Given the description of an element on the screen output the (x, y) to click on. 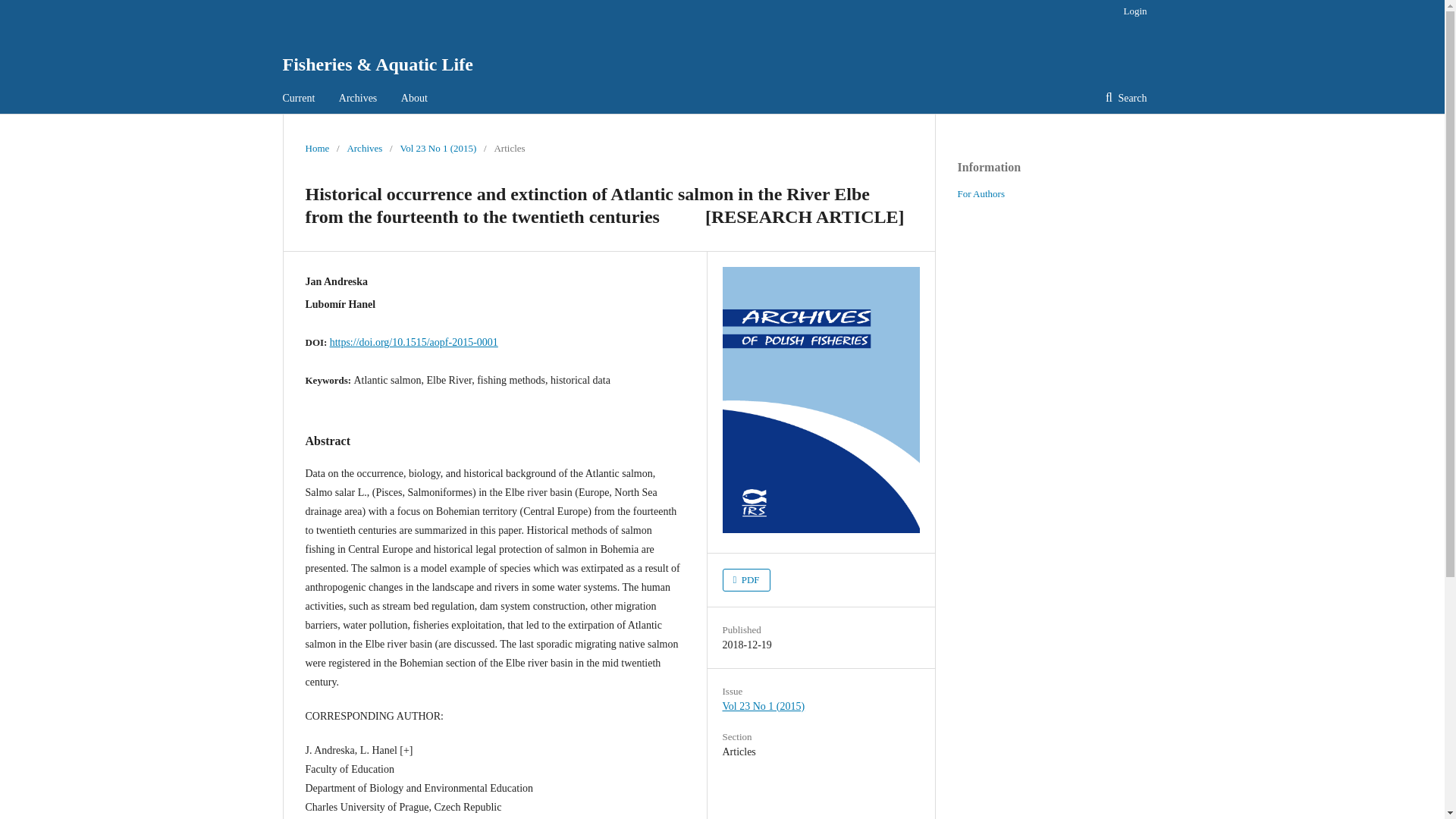
PDF (746, 579)
Search (1125, 98)
Login (1131, 11)
Archives (358, 98)
Archives (363, 148)
Current (298, 98)
For Authors (980, 193)
Home (316, 148)
